Given the description of an element on the screen output the (x, y) to click on. 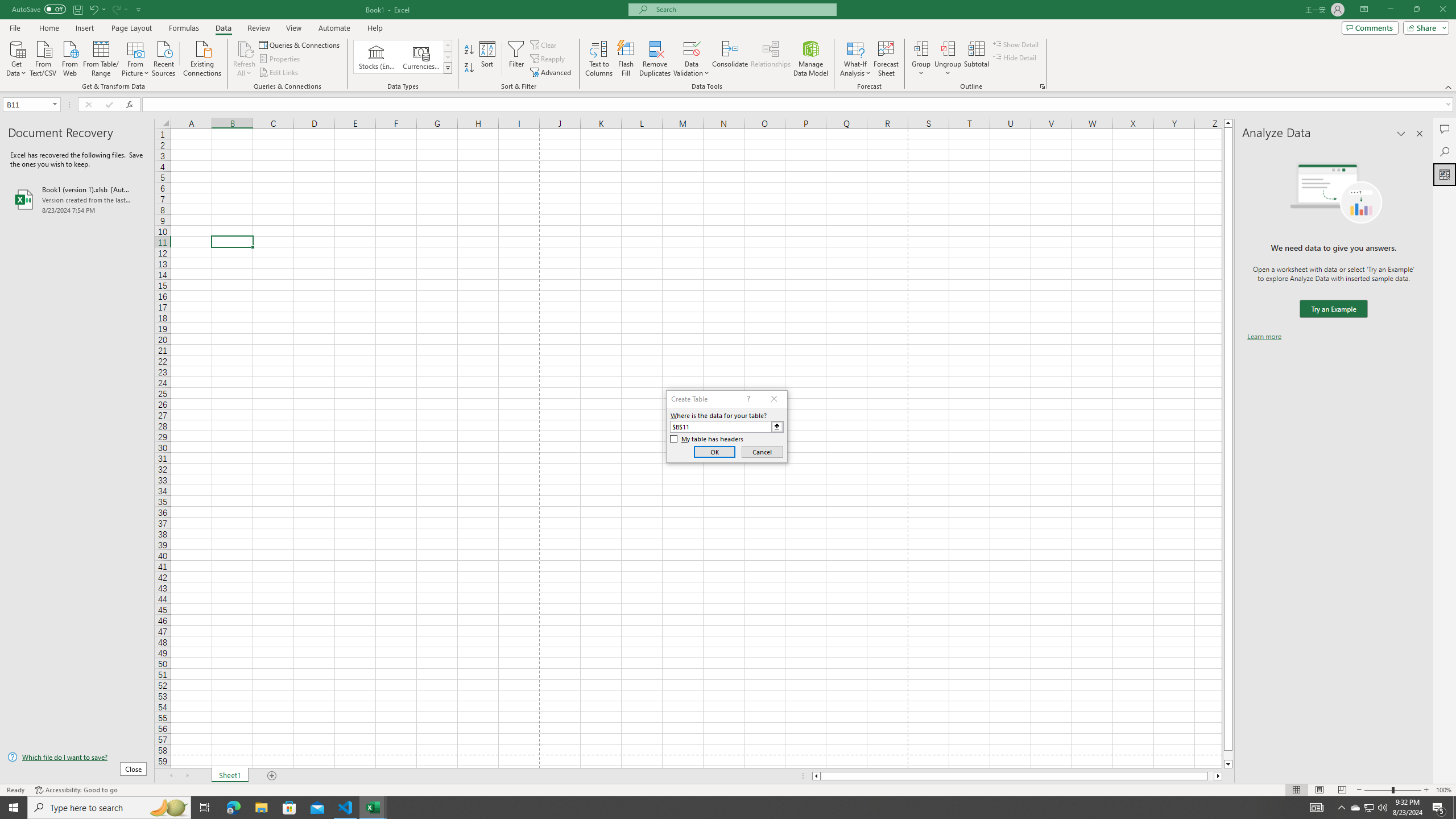
Group... (921, 58)
Class: MsoCommandBar (728, 45)
Forecast Sheet (885, 58)
Remove Duplicates (654, 58)
Which file do I want to save? (77, 757)
Filter (515, 58)
Close pane (1419, 133)
